Given the description of an element on the screen output the (x, y) to click on. 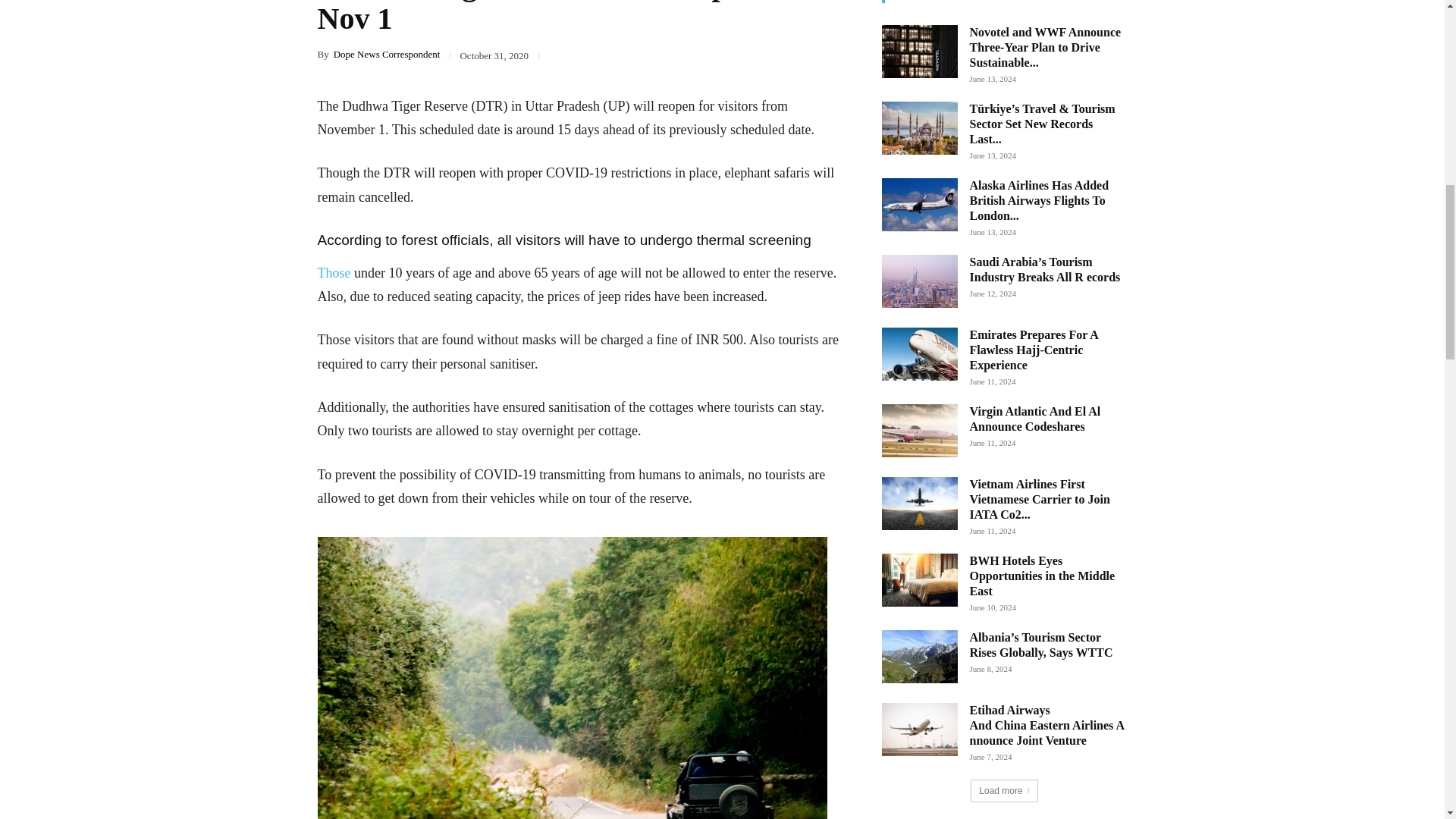
Those (333, 272)
Dope News Correspondent (387, 53)
